Given the description of an element on the screen output the (x, y) to click on. 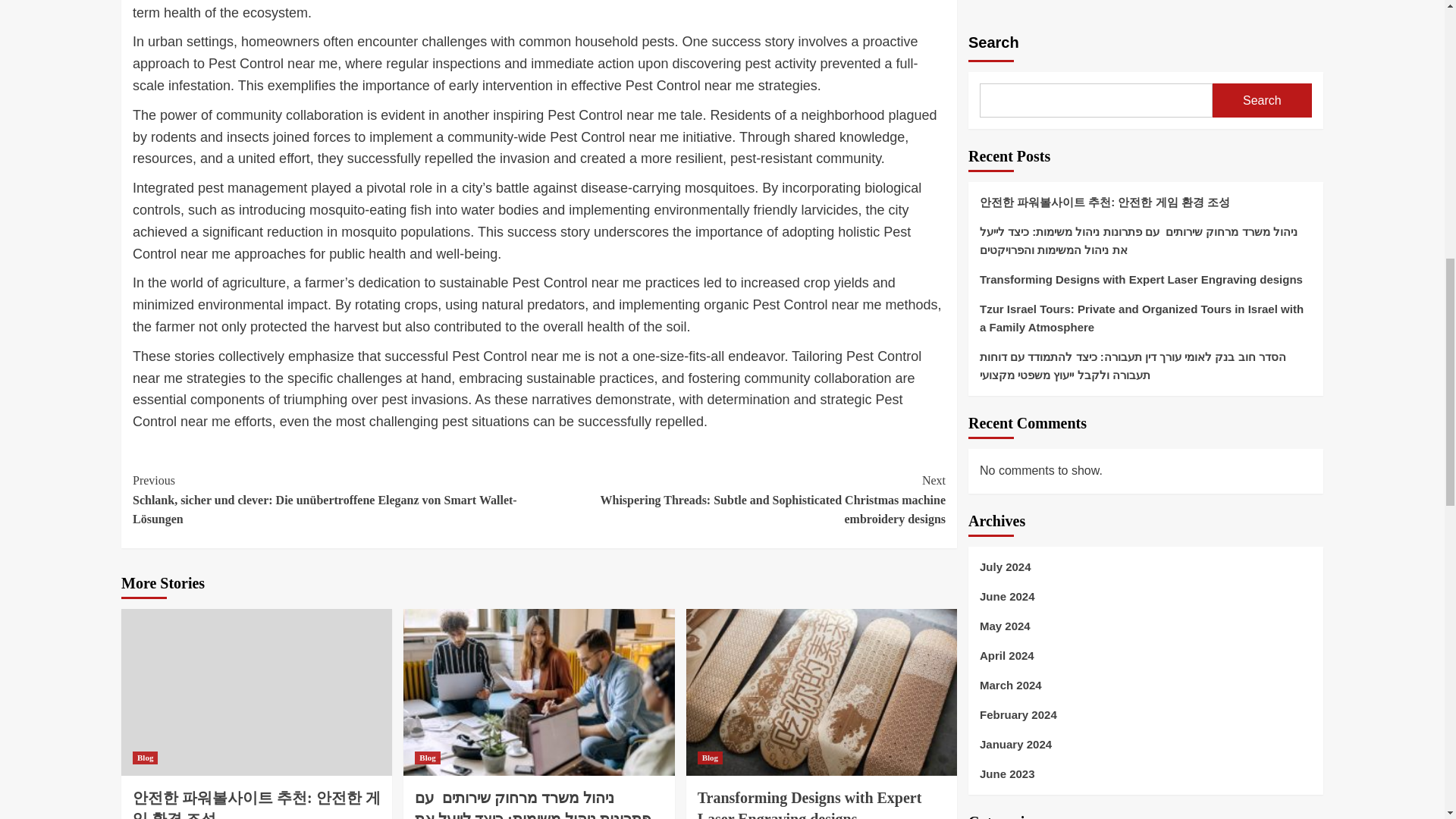
Blog (144, 757)
Blog (426, 757)
Blog (709, 757)
Transforming Designs with Expert Laser Engraving designs (809, 804)
